Given the description of an element on the screen output the (x, y) to click on. 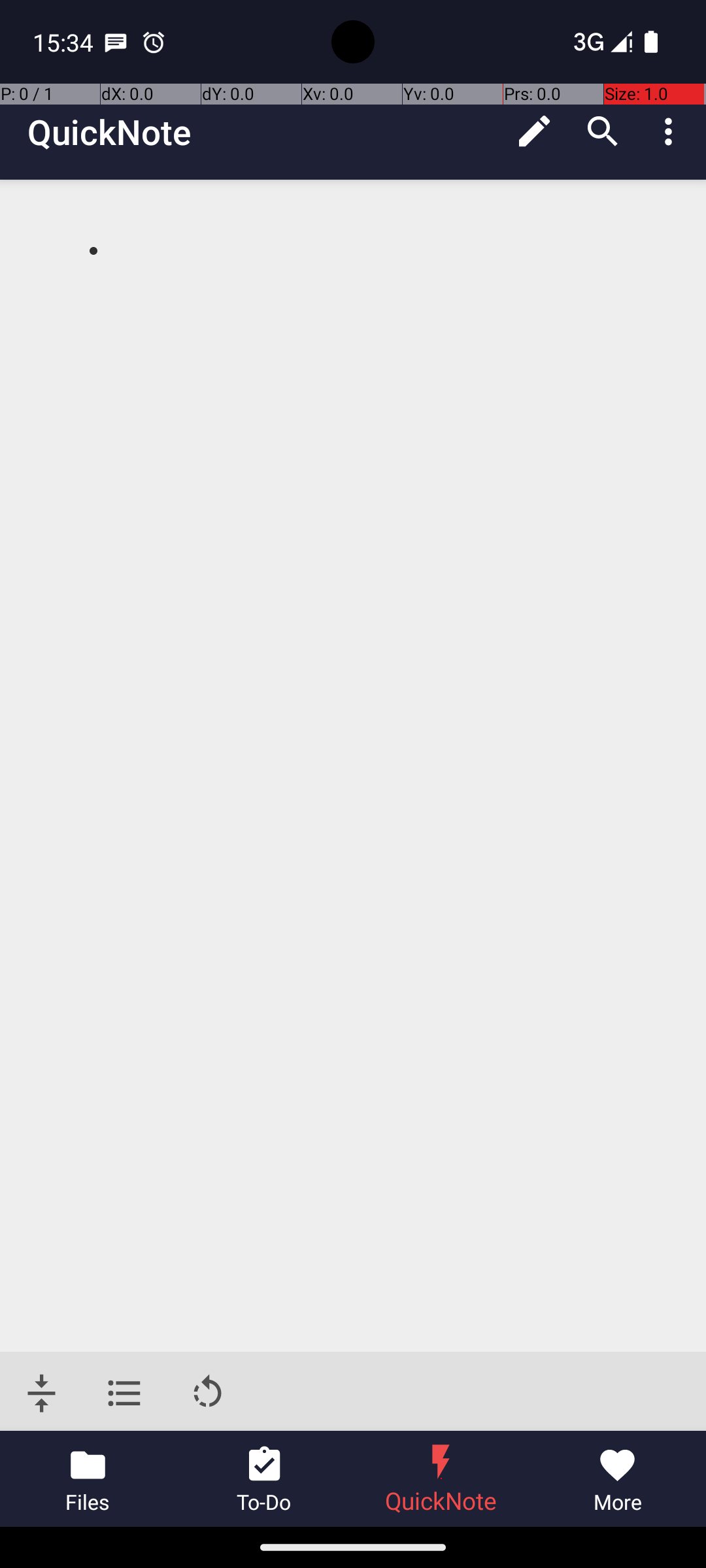
•  Element type: android.view.View (92, 249)
